Given the description of an element on the screen output the (x, y) to click on. 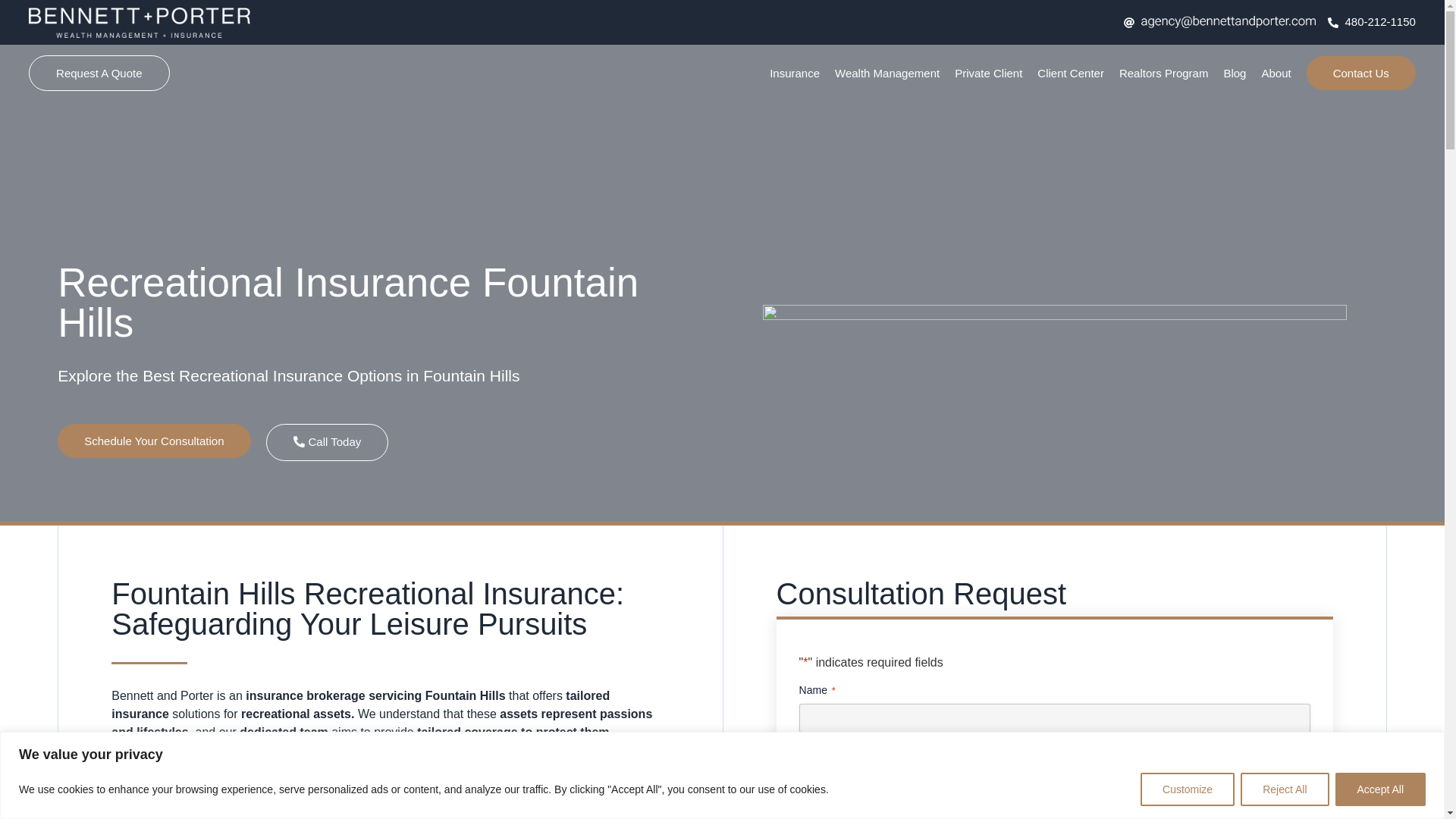
Client Center (1069, 73)
Accept All (1380, 788)
Request A Quote (98, 72)
Private Client (988, 73)
Reject All (1283, 788)
Wealth Management (886, 73)
Customize (1187, 788)
480-212-1150 (1371, 22)
